Given the description of an element on the screen output the (x, y) to click on. 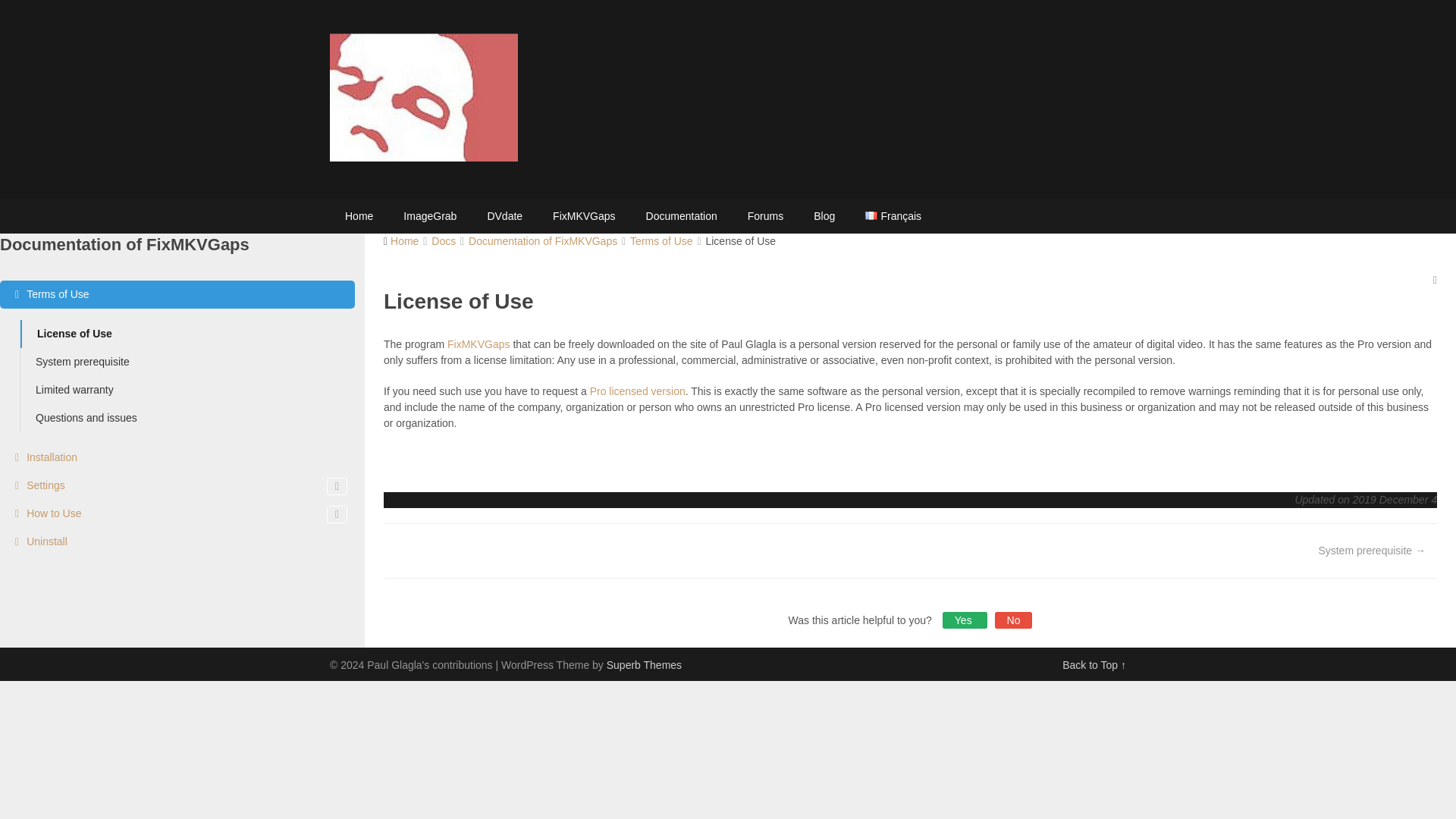
Pro licensed version (637, 390)
Forums (764, 216)
FixMKVGaps (477, 344)
Questions and issues (187, 418)
Terms of Use (177, 294)
Terms of Use (661, 241)
FixMKVGaps (583, 216)
No votes yet (1013, 619)
No (1013, 619)
Home (404, 241)
